Given the description of an element on the screen output the (x, y) to click on. 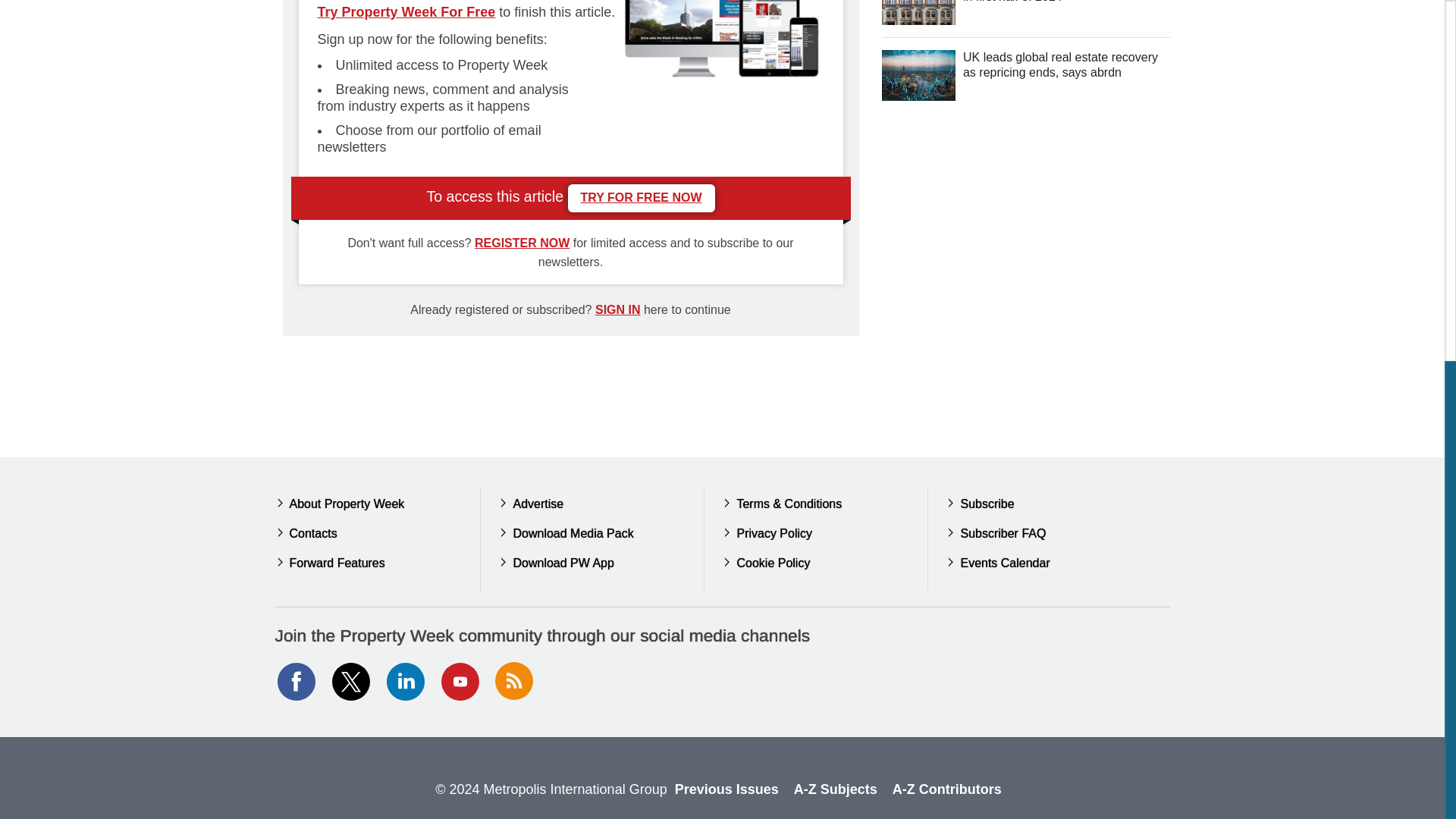
Grosvenor sees strong leasing activity in first half of 2024 (917, 12)
